Given the description of an element on the screen output the (x, y) to click on. 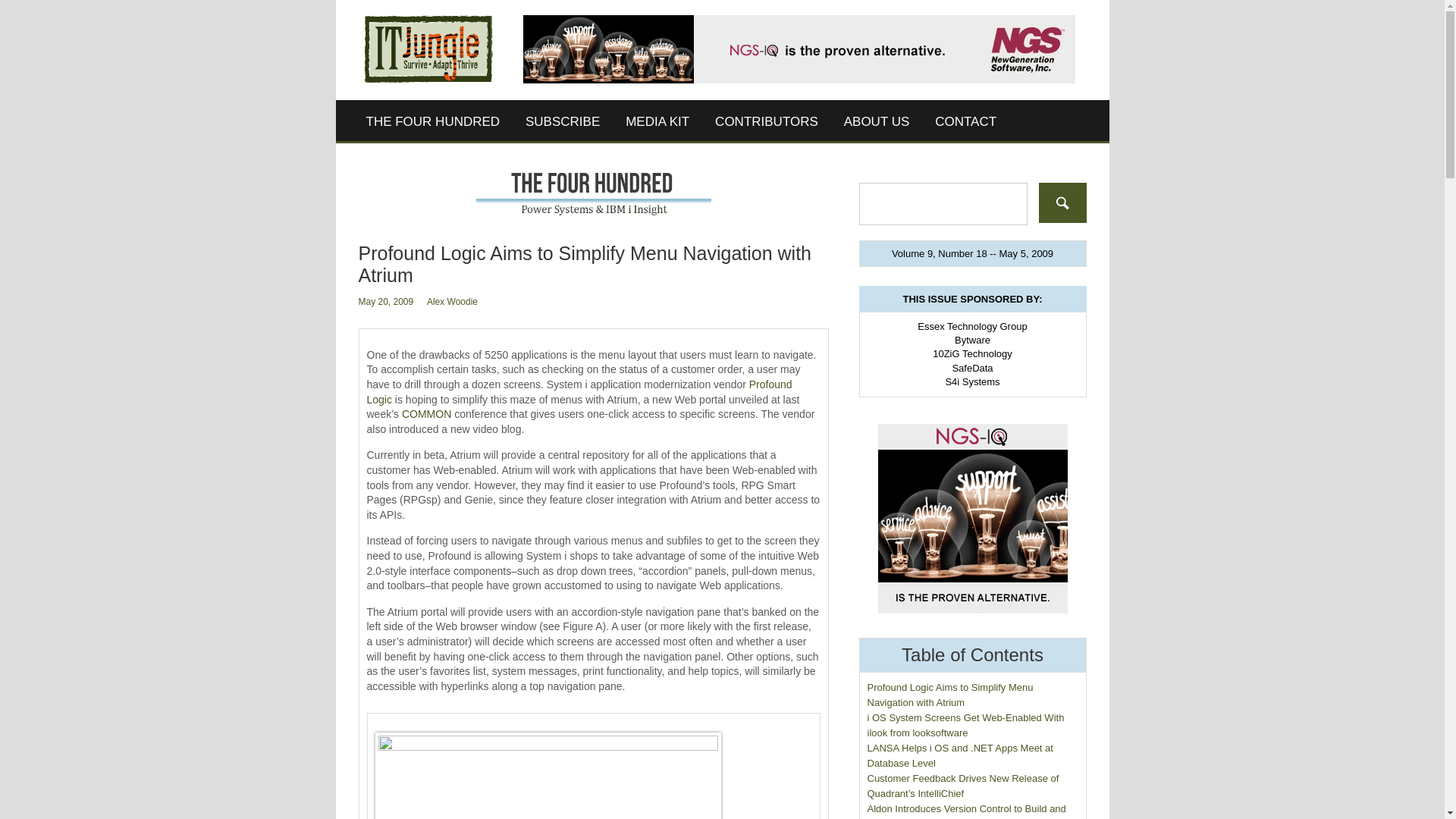
Search (1062, 202)
THE FOUR HUNDRED (433, 121)
COMMON (426, 413)
CONTACT (965, 121)
MEDIA KIT (657, 121)
Profound Logic (579, 391)
CONTRIBUTORS (766, 121)
ABOUT US (876, 121)
SUBSCRIBE (562, 121)
